Given the description of an element on the screen output the (x, y) to click on. 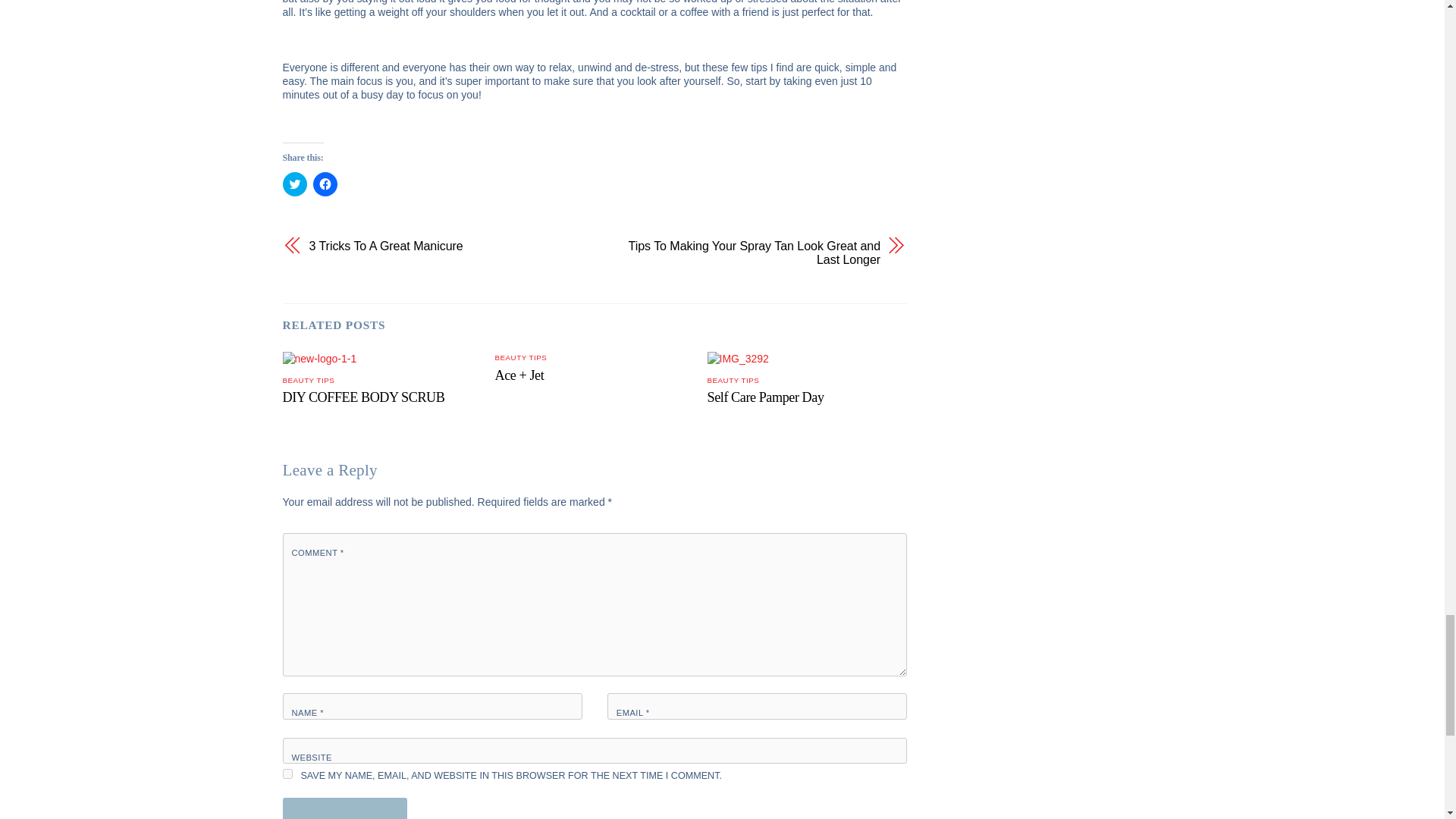
new-logo-1-1 (319, 358)
BEAUTY TIPS (308, 379)
DIY COFFEE BODY SCRUB (363, 396)
DIY COFFEE BODY SCRUB (363, 396)
3 Tricks To A Great Manicure (442, 245)
BEAUTY TIPS (521, 356)
Tips To Making Your Spray Tan Look Great and Last Longer (746, 252)
Post Comment (344, 808)
BEAUTY TIPS (733, 379)
yes (287, 773)
